Given the description of an element on the screen output the (x, y) to click on. 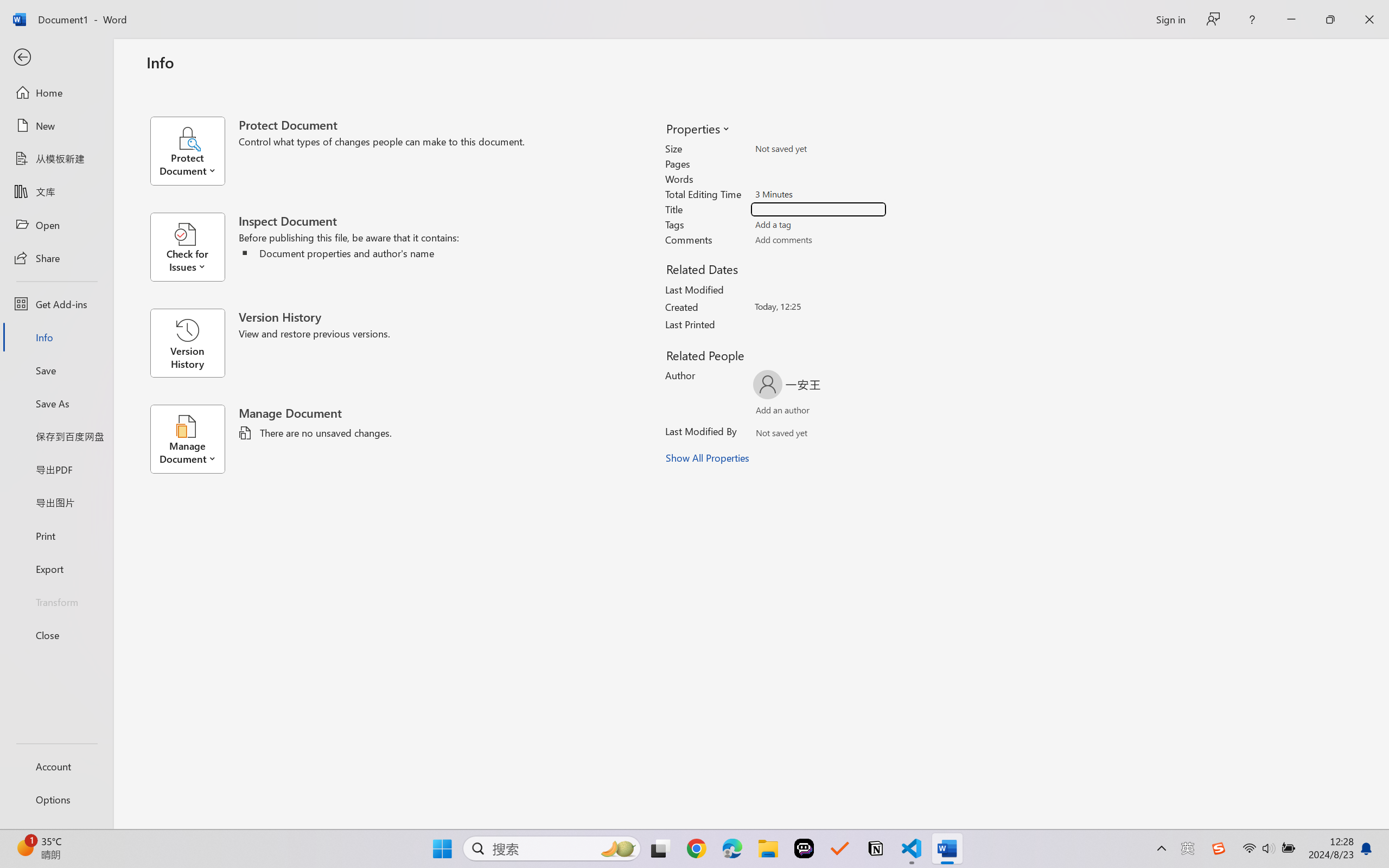
Properties (696, 128)
Add an author (772, 411)
Back (56, 57)
Pages (818, 163)
Save As (56, 403)
Not saved yet (772, 434)
